Given the description of an element on the screen output the (x, y) to click on. 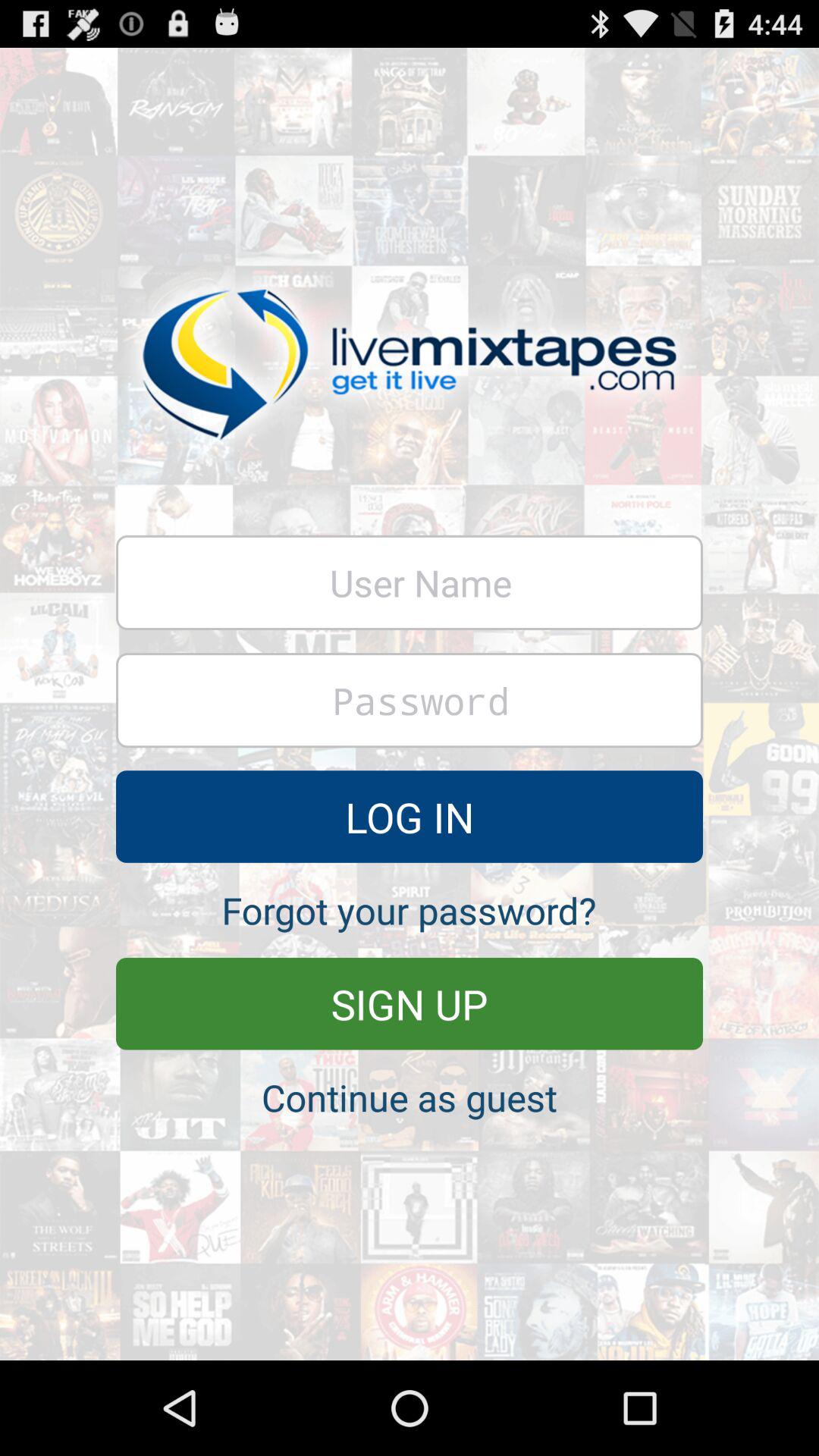
enter user name (409, 582)
